Given the description of an element on the screen output the (x, y) to click on. 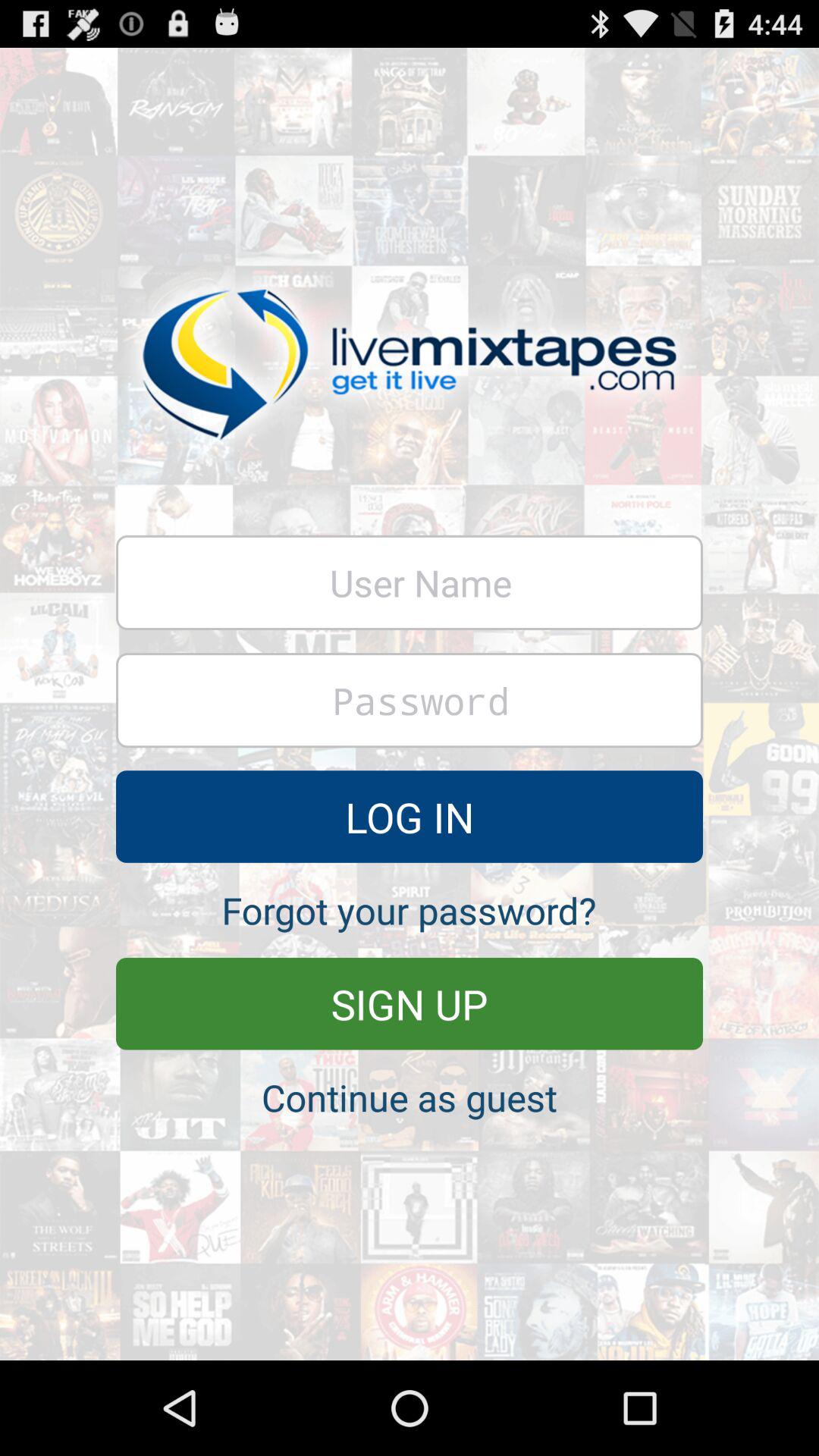
enter user name (409, 582)
